Given the description of an element on the screen output the (x, y) to click on. 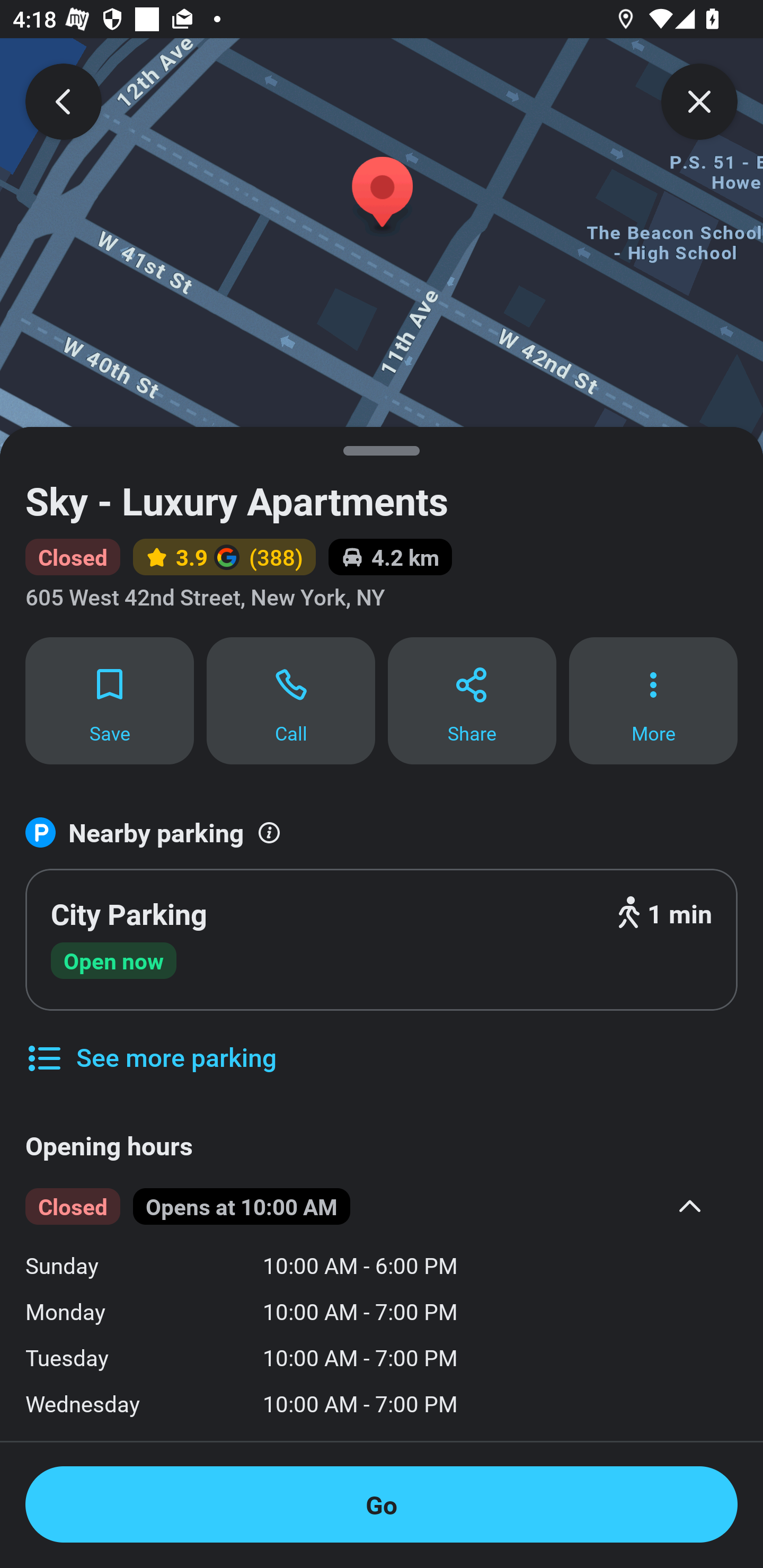
Save (109, 700)
Call (290, 700)
Share (471, 700)
More (653, 700)
City Parking 1 min Open now (381, 939)
See more parking (150, 1043)
Closed Opens at 10:00 AM (368, 1206)
Go (381, 1504)
